Given the description of an element on the screen output the (x, y) to click on. 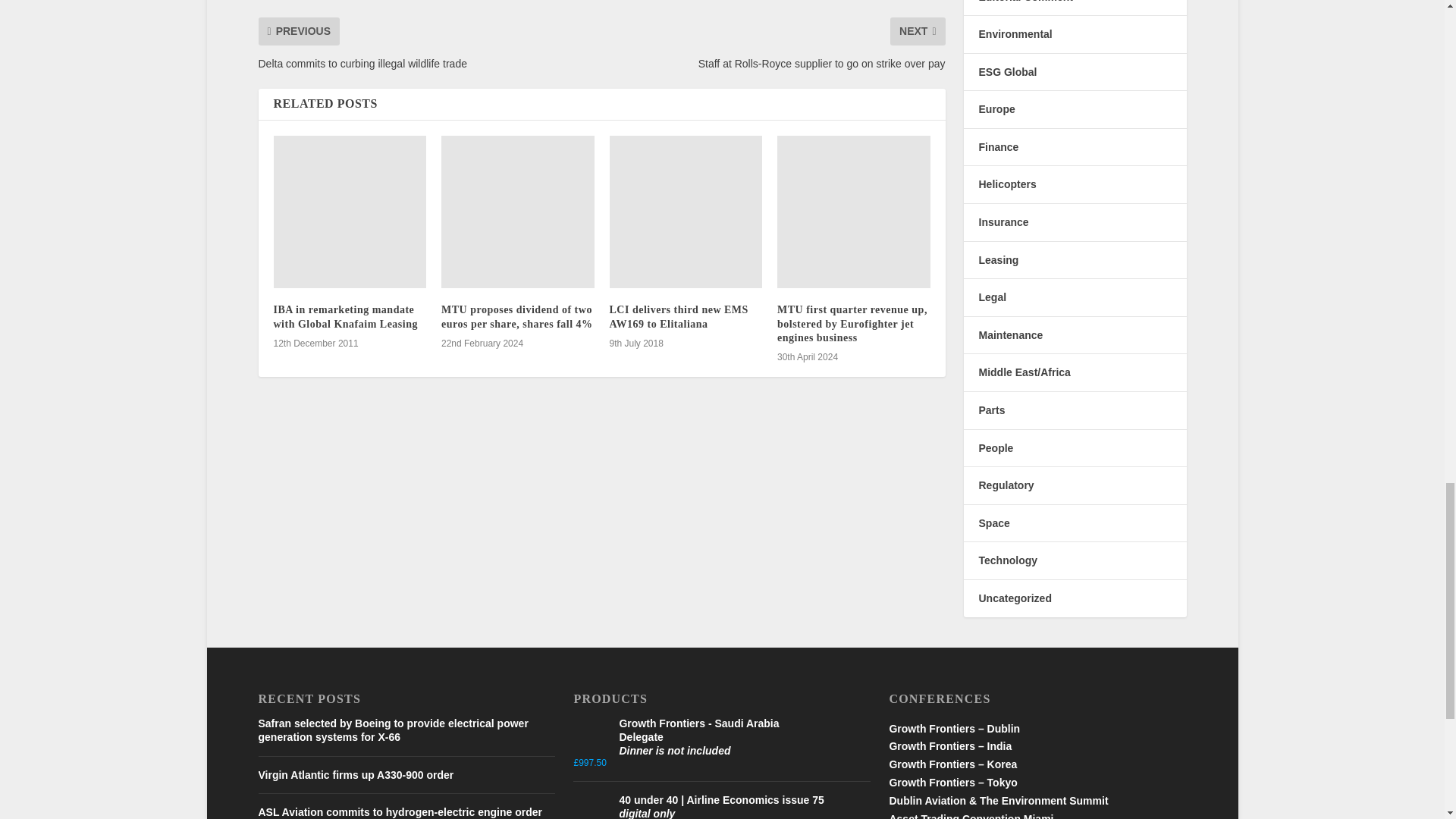
IBA in remarketing mandate with Global Knafaim Leasing (349, 212)
